Given the description of an element on the screen output the (x, y) to click on. 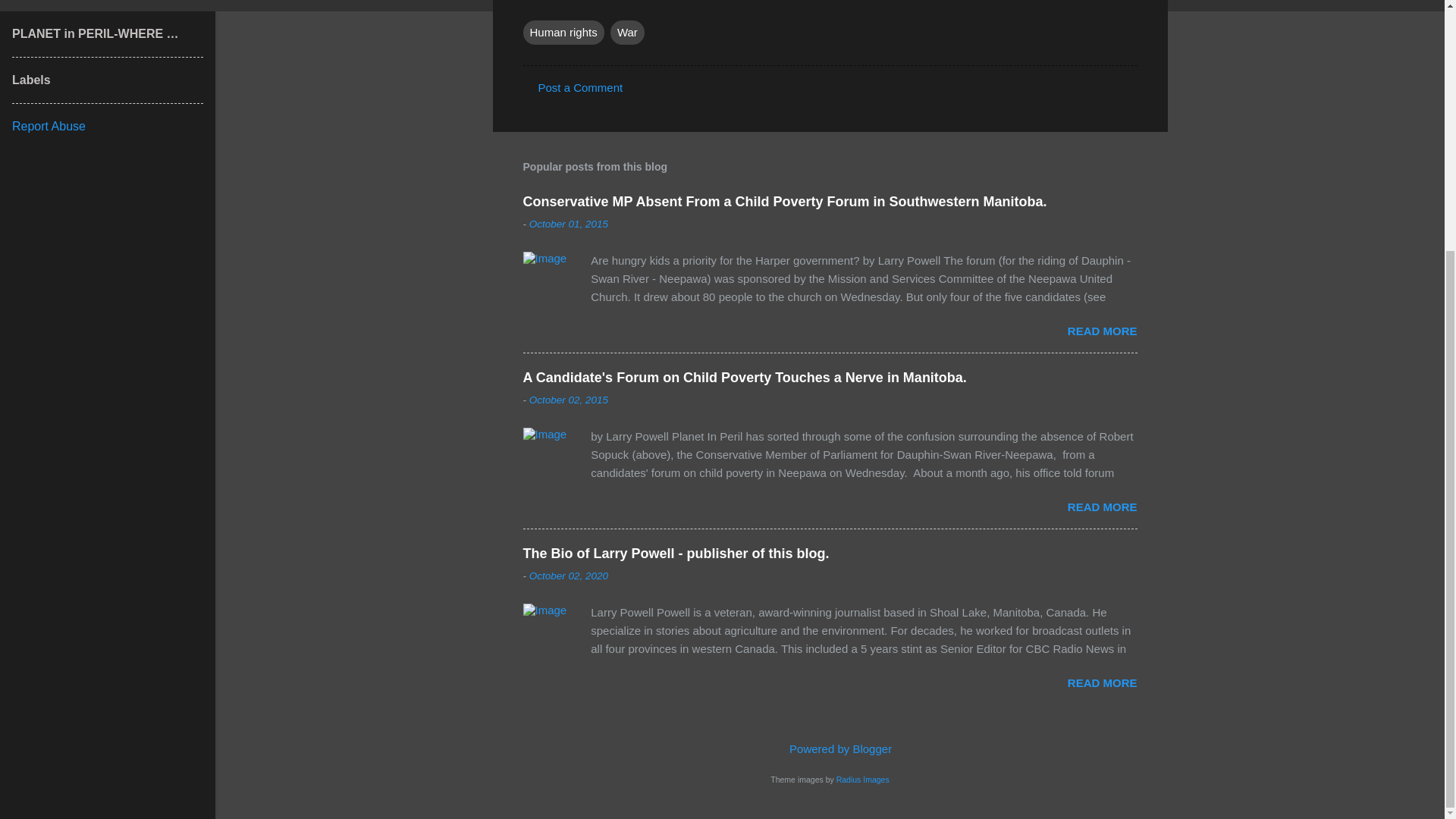
October 02, 2020 (568, 575)
READ MORE (1102, 506)
Human rights (563, 32)
The Bio of Larry Powell - publisher of this blog. (1102, 682)
READ MORE (1102, 330)
permanent link (568, 224)
Post a Comment (580, 87)
Powered by Blogger (829, 748)
Email Post (531, 3)
October 02, 2015 (568, 399)
The Bio of Larry Powell - publisher of this blog. (675, 553)
October 01, 2015 (568, 224)
READ MORE (1102, 682)
permanent link (568, 399)
